Given the description of an element on the screen output the (x, y) to click on. 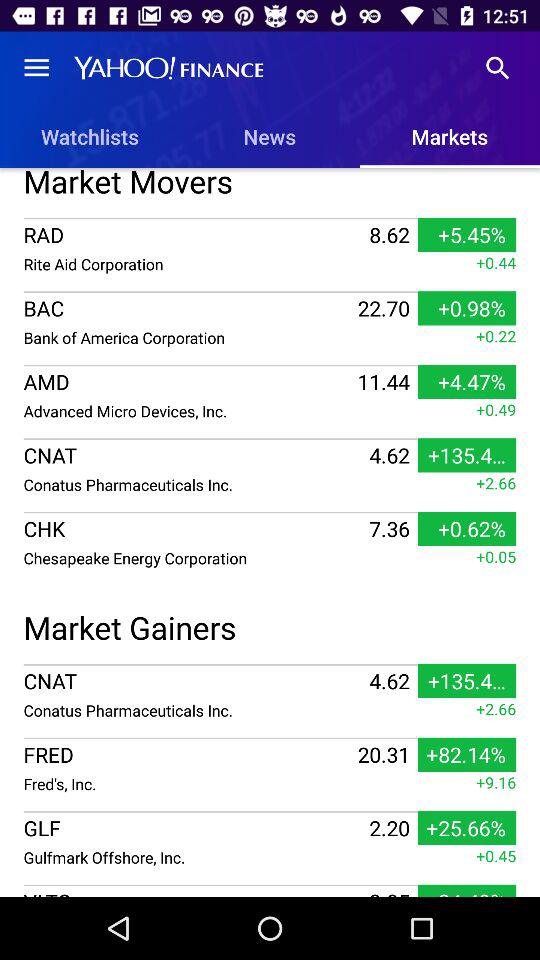
turn off the icon below the chesapeake energy corporation (270, 624)
